Given the description of an element on the screen output the (x, y) to click on. 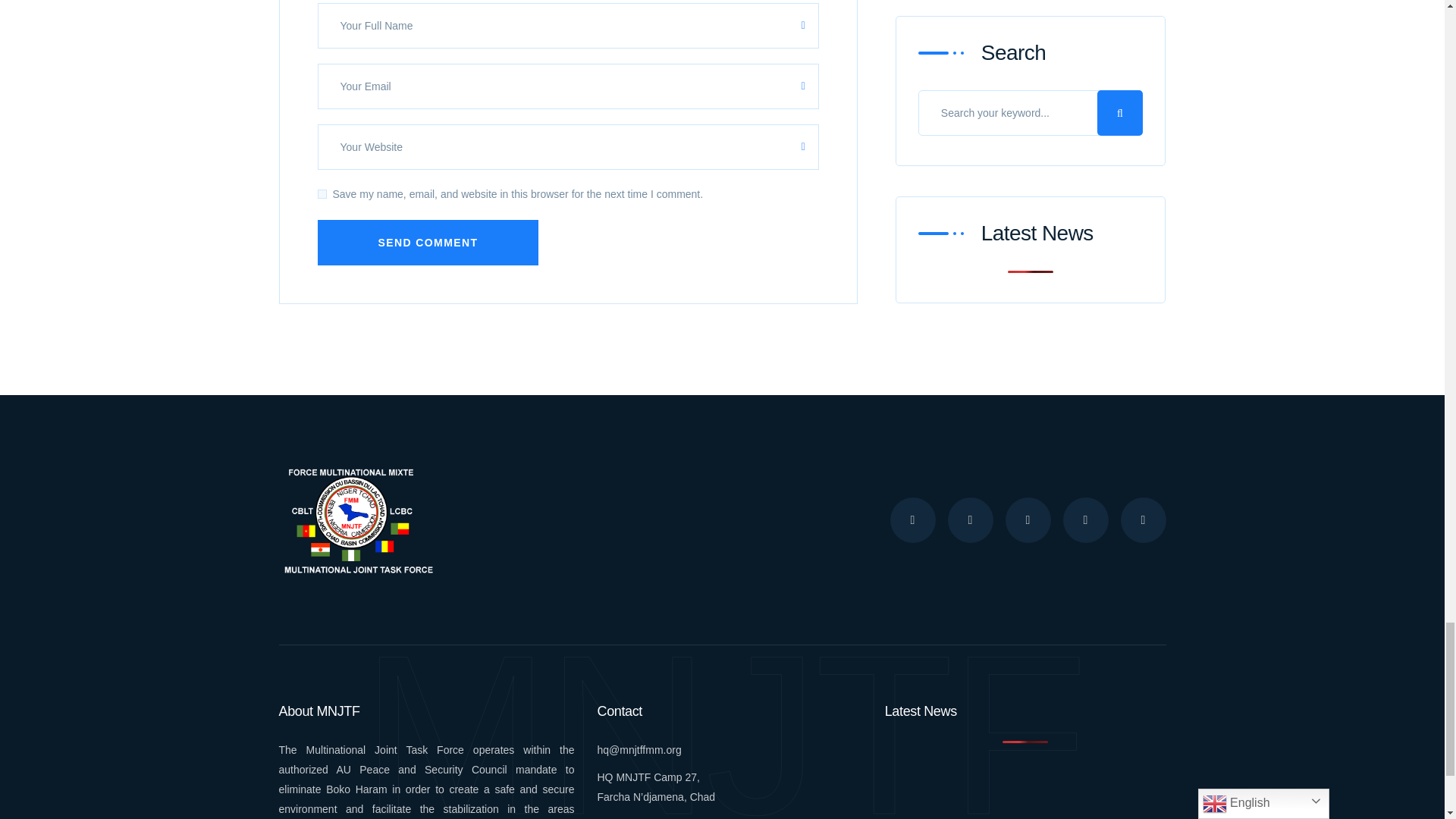
Address (656, 787)
Email (638, 749)
Send Comment (427, 242)
Multinational Joint Task Force (356, 519)
Send Comment (427, 242)
